Given the description of an element on the screen output the (x, y) to click on. 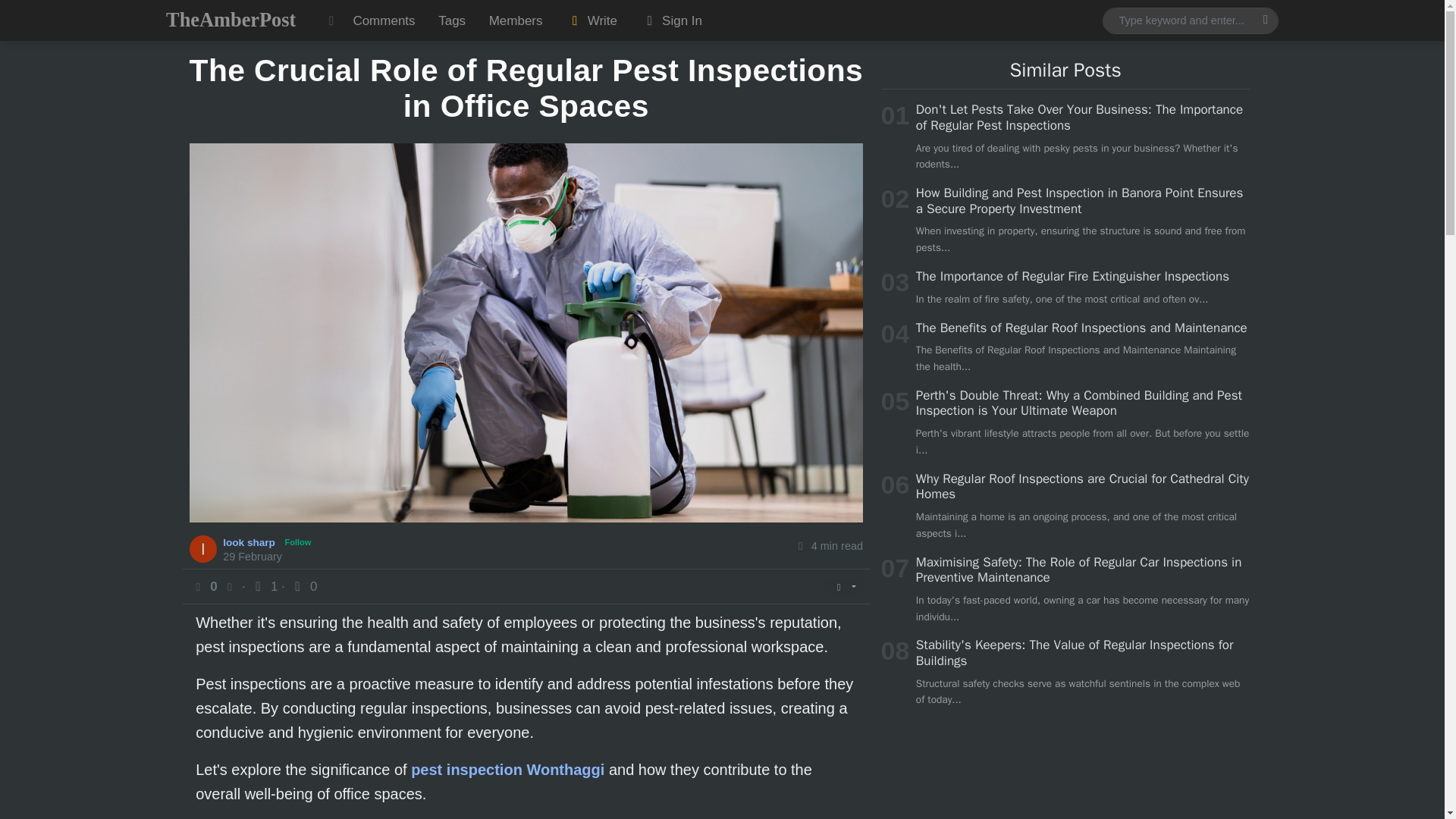
Sign In (670, 20)
pest inspection Wonthaggi (507, 769)
look sharp (250, 541)
The Importance of Regular Fire Extinguisher Inspections (1071, 276)
pest inspection Wonthaggi (507, 769)
0 (302, 586)
Tags (451, 20)
